Given the description of an element on the screen output the (x, y) to click on. 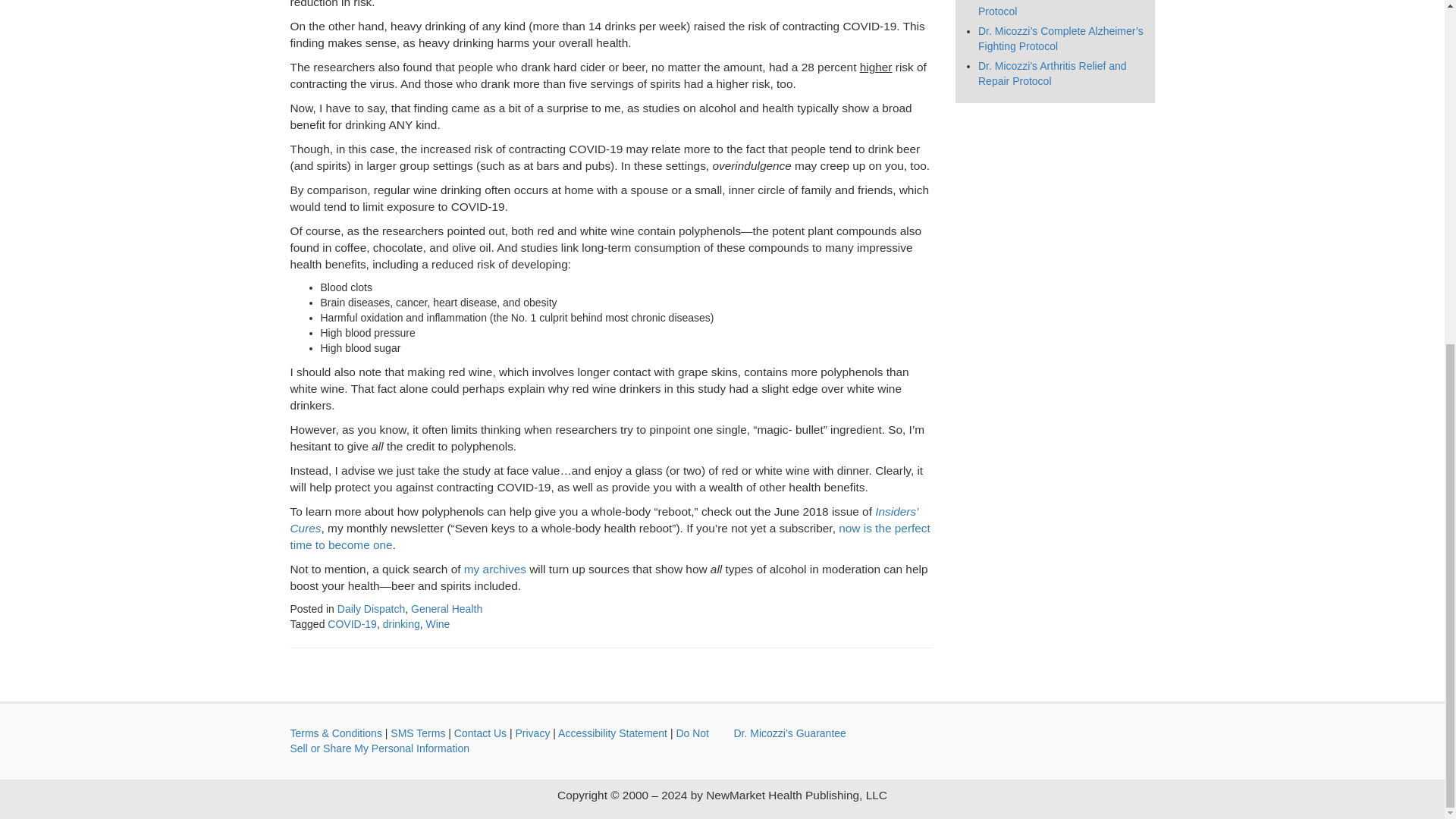
Do Not Sell or Share My Personal Information (499, 740)
my archives (494, 568)
drinking (401, 623)
Dr. Micozzi's Arthritis Relief and Repair Protocol (1052, 72)
Privacy (532, 733)
COVID-19 (352, 623)
Wine (437, 623)
now is the perfect time to become one (609, 536)
SMS Terms (417, 733)
Contact Us (480, 733)
Daily Dispatch (370, 608)
General Health (445, 608)
Accessibility Statement (611, 733)
